Given the description of an element on the screen output the (x, y) to click on. 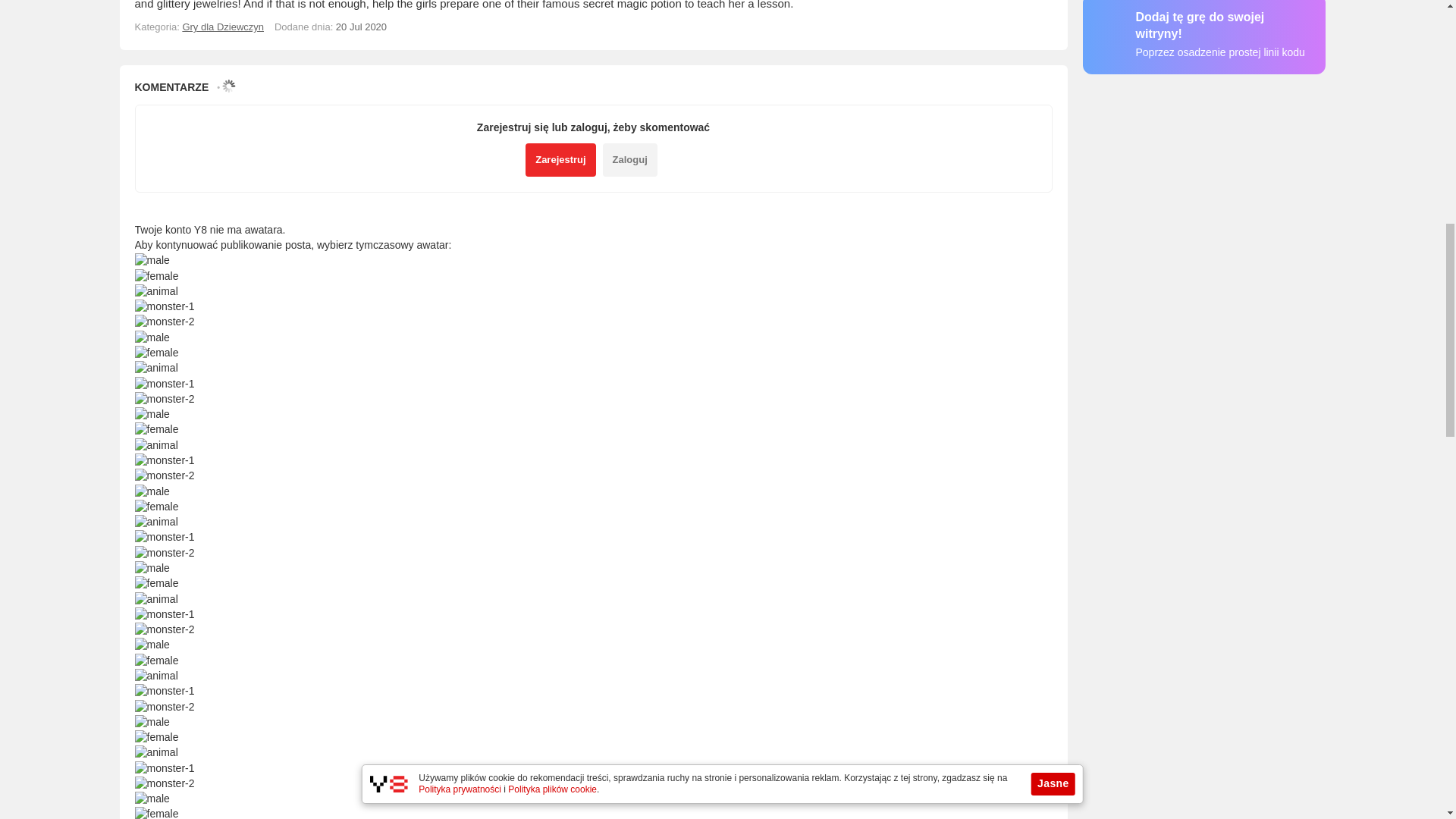
Girls (222, 26)
